Given the description of an element on the screen output the (x, y) to click on. 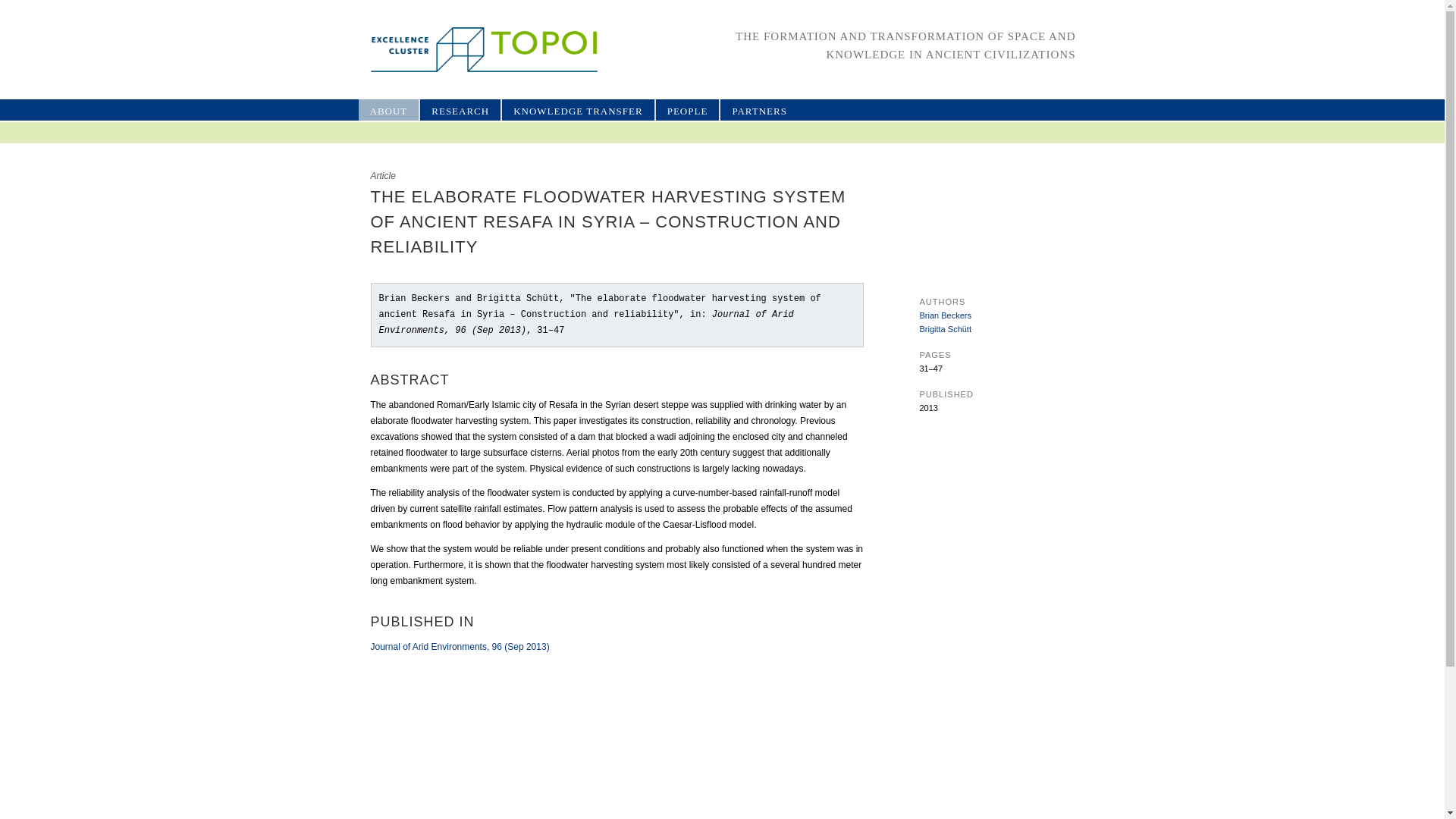
About us (388, 109)
Topoi (469, 49)
ABOUT (388, 109)
RESEARCH (460, 109)
KNOWLEDGE TRANSFER (577, 109)
